Given the description of an element on the screen output the (x, y) to click on. 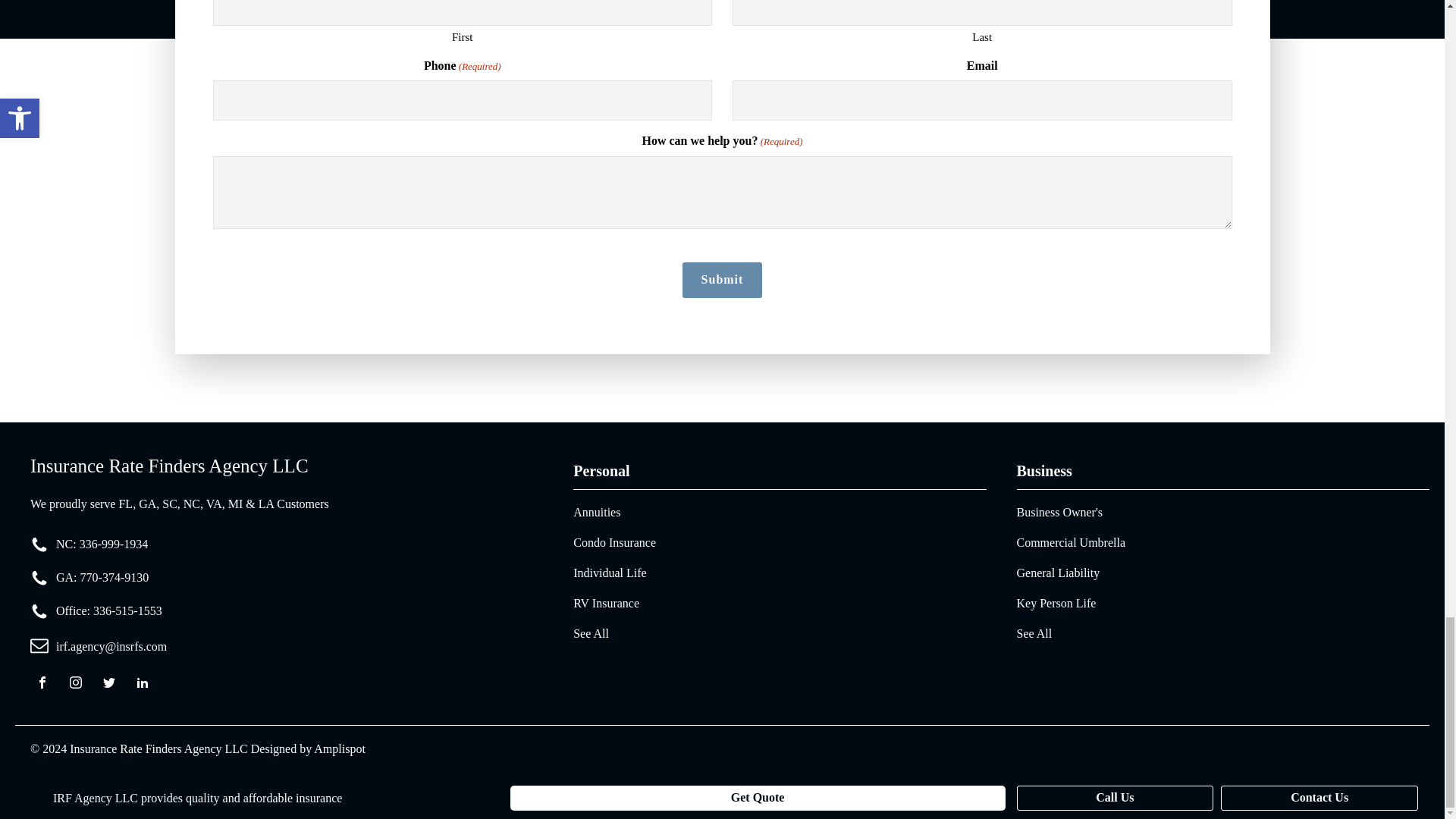
NC: 336-999-1934 (102, 544)
Submit (722, 279)
Submit (722, 279)
